Given the description of an element on the screen output the (x, y) to click on. 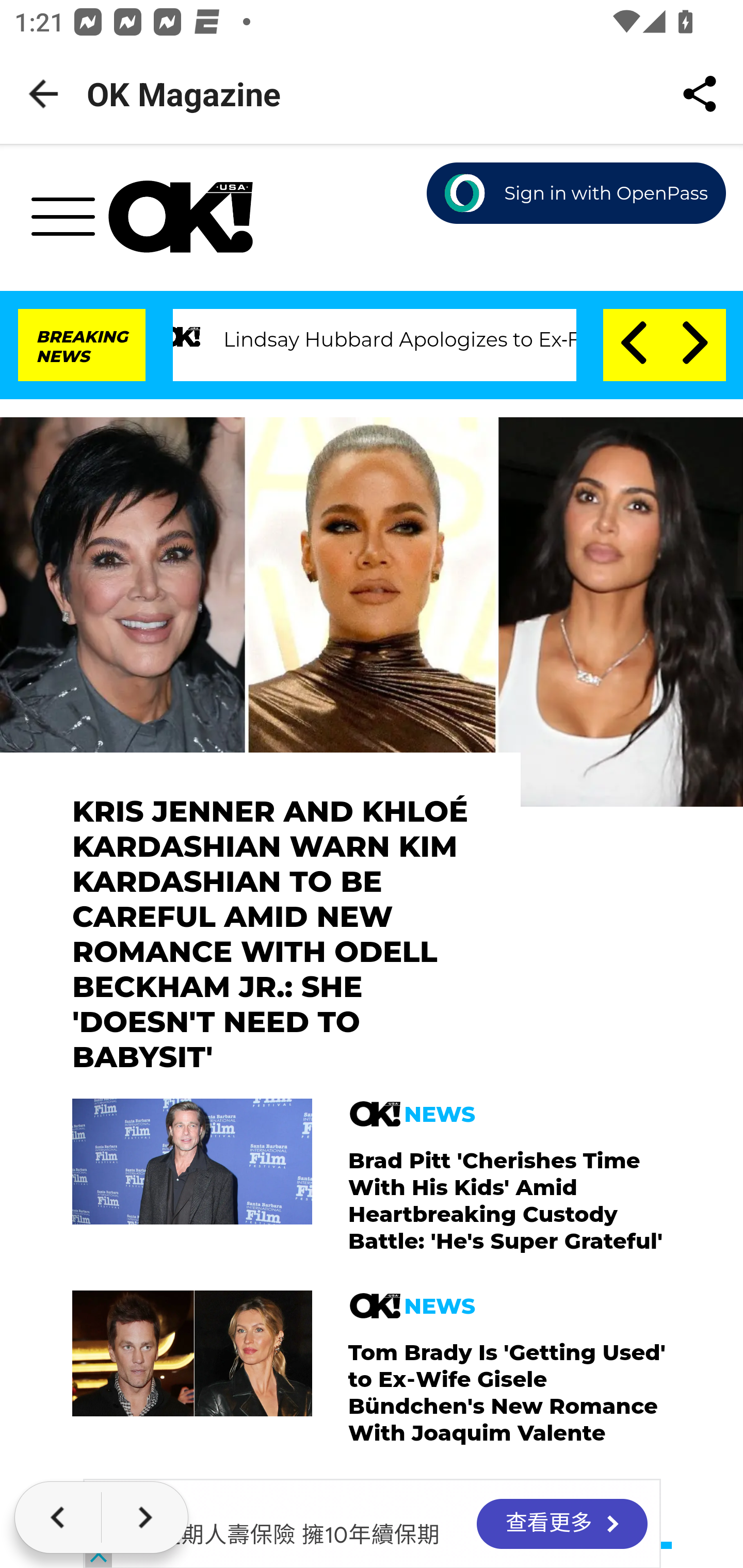
Sign in with OpenPass Button (576, 194)
toggle (70, 221)
OK Magazine (180, 217)
查看更多 (560, 1524)
